Given the description of an element on the screen output the (x, y) to click on. 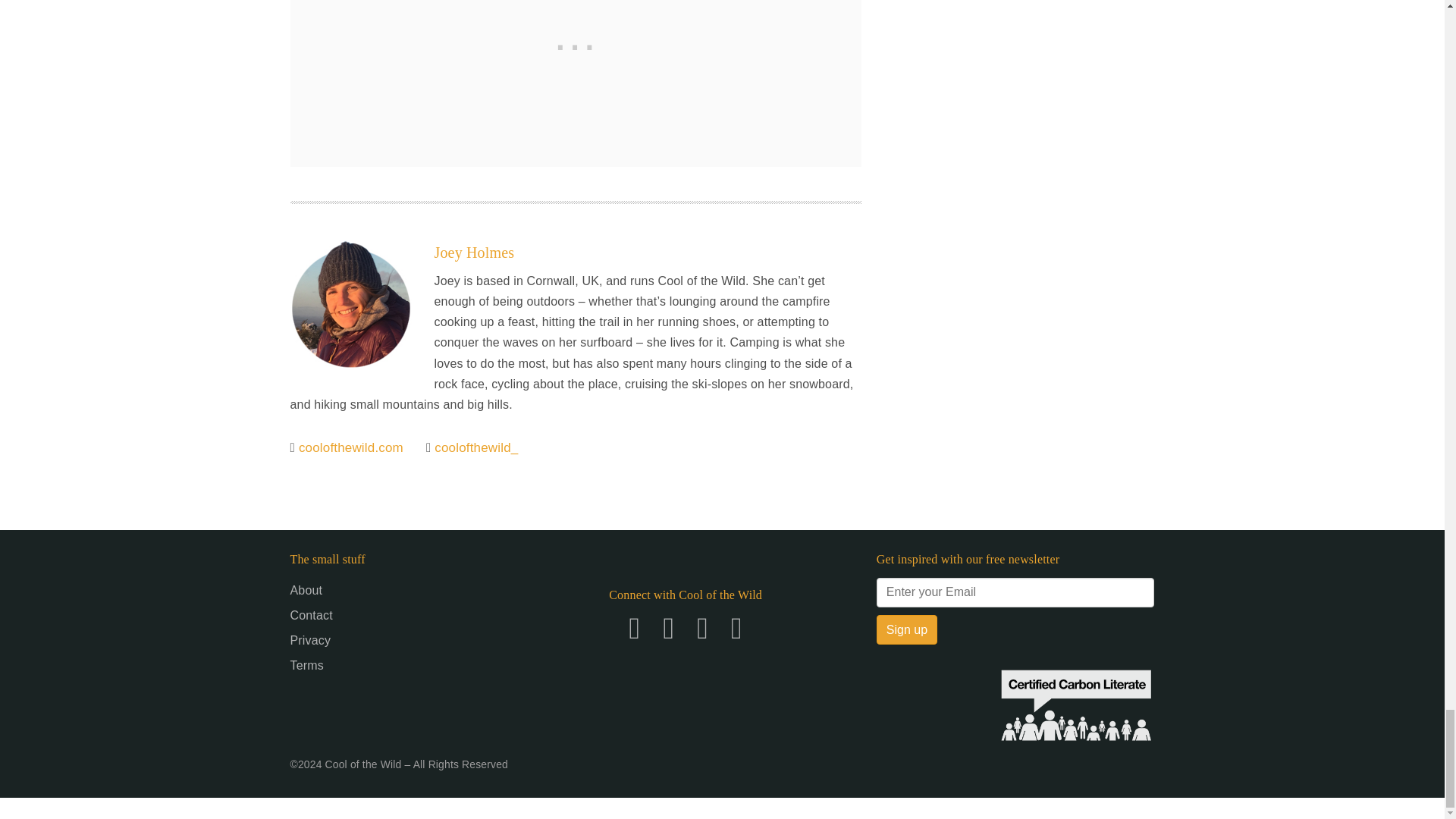
Sign up (906, 630)
Joey Holmes (473, 252)
